Given the description of an element on the screen output the (x, y) to click on. 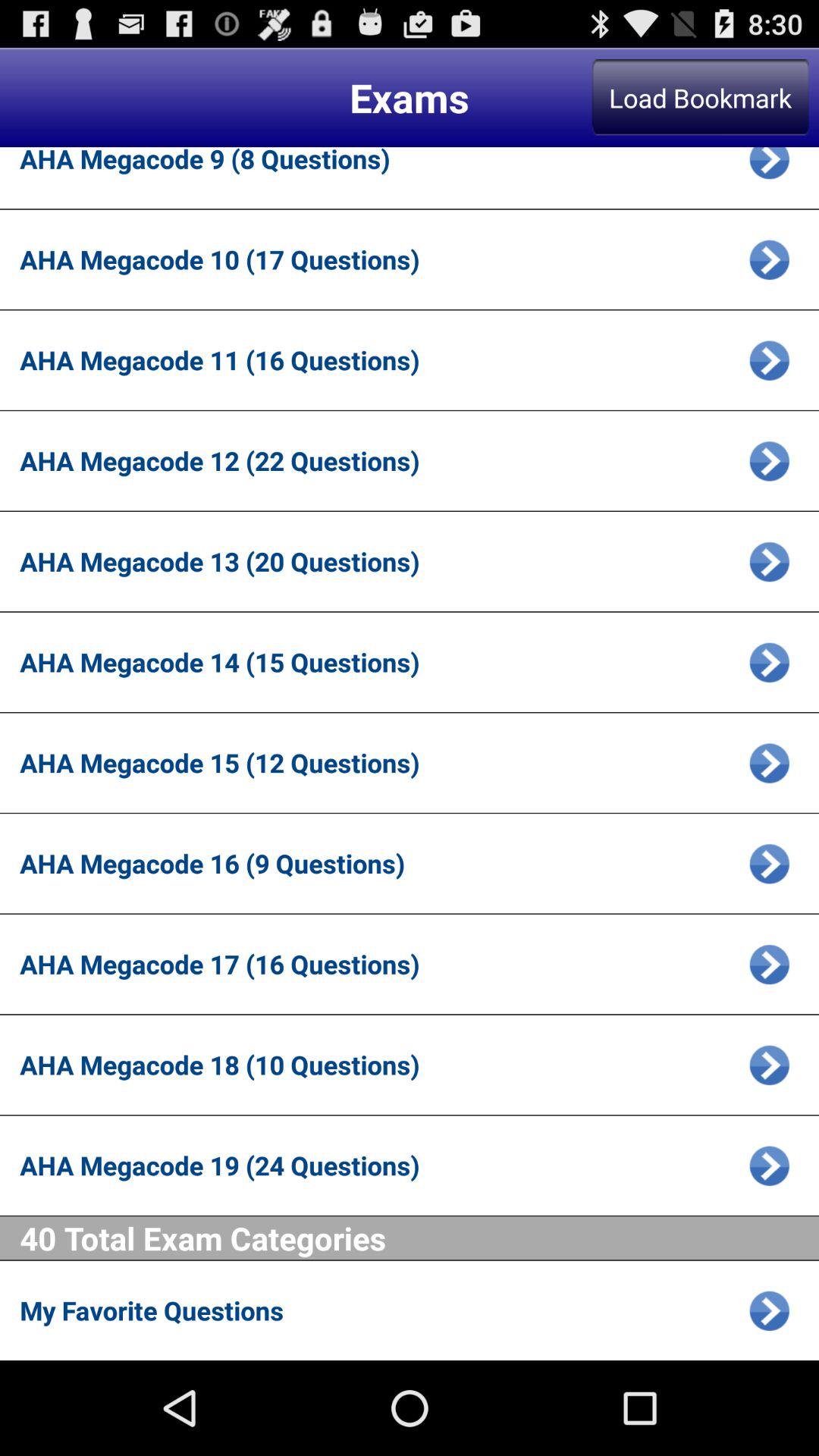
access your favorite questions here (769, 1310)
